Given the description of an element on the screen output the (x, y) to click on. 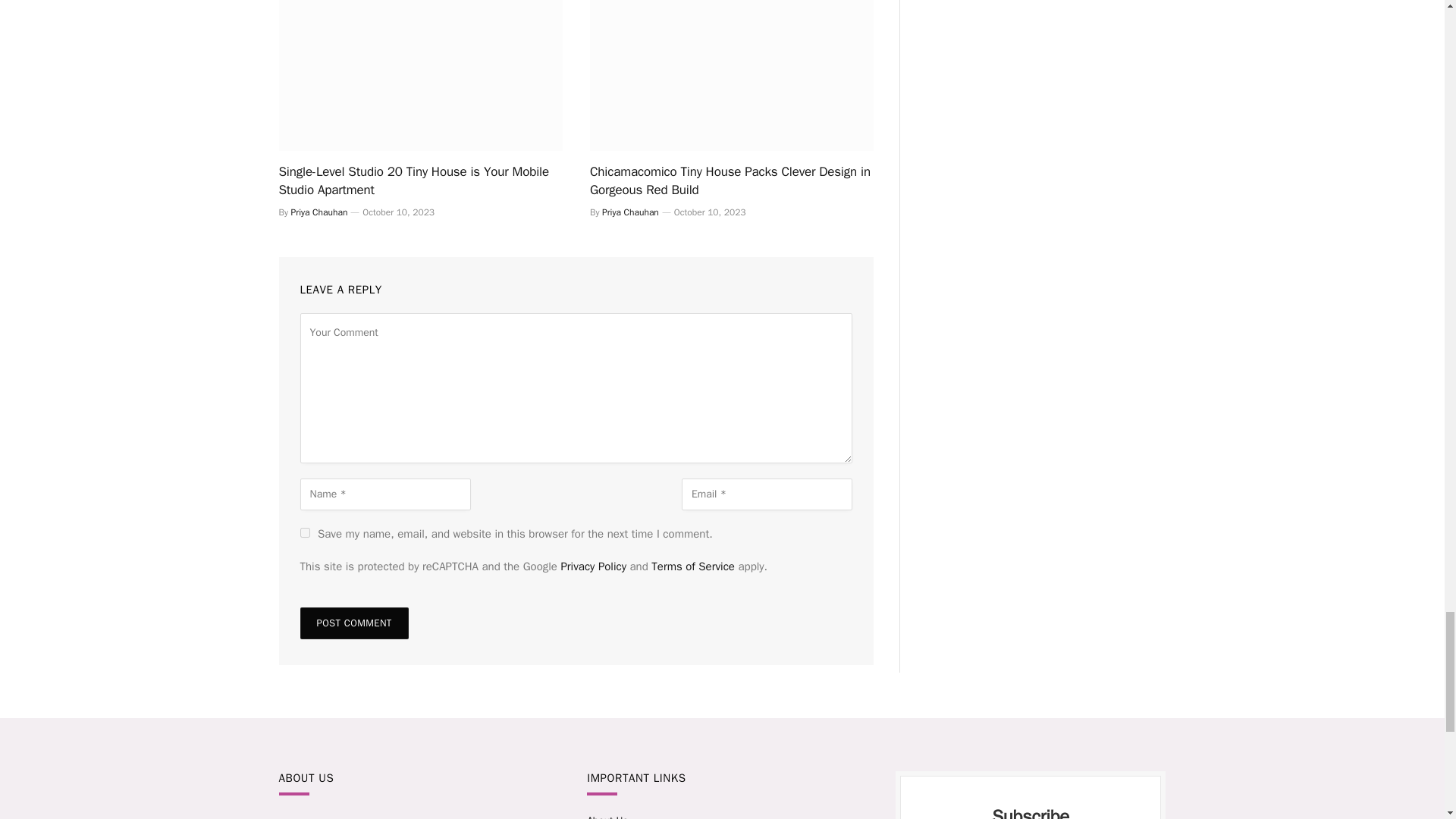
yes (304, 532)
Post Comment (354, 623)
